Given the description of an element on the screen output the (x, y) to click on. 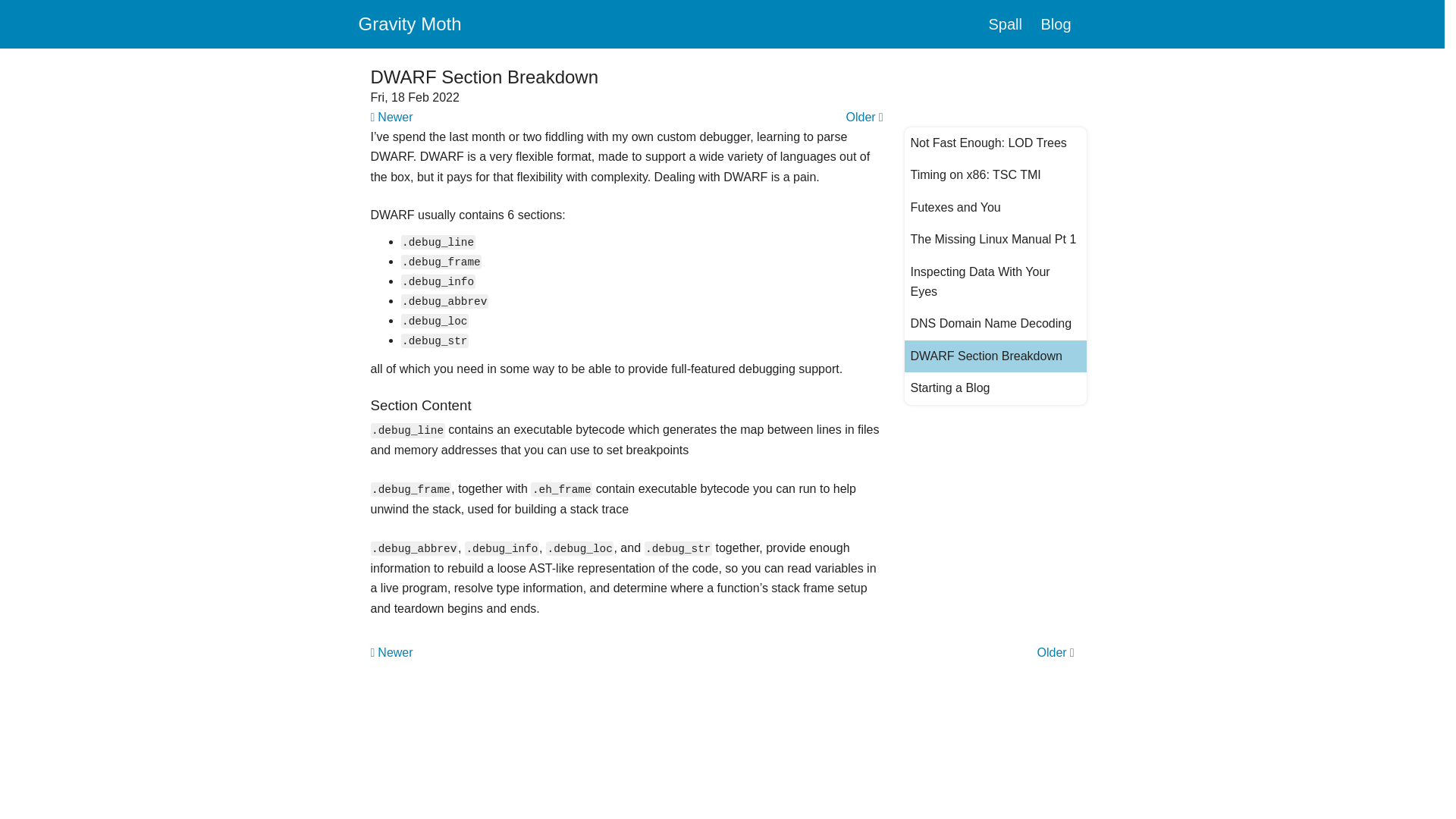
Starting a Blog (995, 388)
DWARF Section Breakdown (995, 356)
Newer (390, 653)
Futexes and You (995, 207)
Older (1055, 653)
Gravity Moth (418, 24)
Older (864, 117)
Inspecting Data With Your Eyes (995, 282)
The Missing Linux Manual Pt 1 (995, 239)
Newer (390, 117)
Spall (1012, 23)
DNS Domain Name Decoding (995, 323)
Not Fast Enough: LOD Trees (995, 142)
Blog (1063, 23)
Timing on x86: TSC TMI (995, 174)
